Given the description of an element on the screen output the (x, y) to click on. 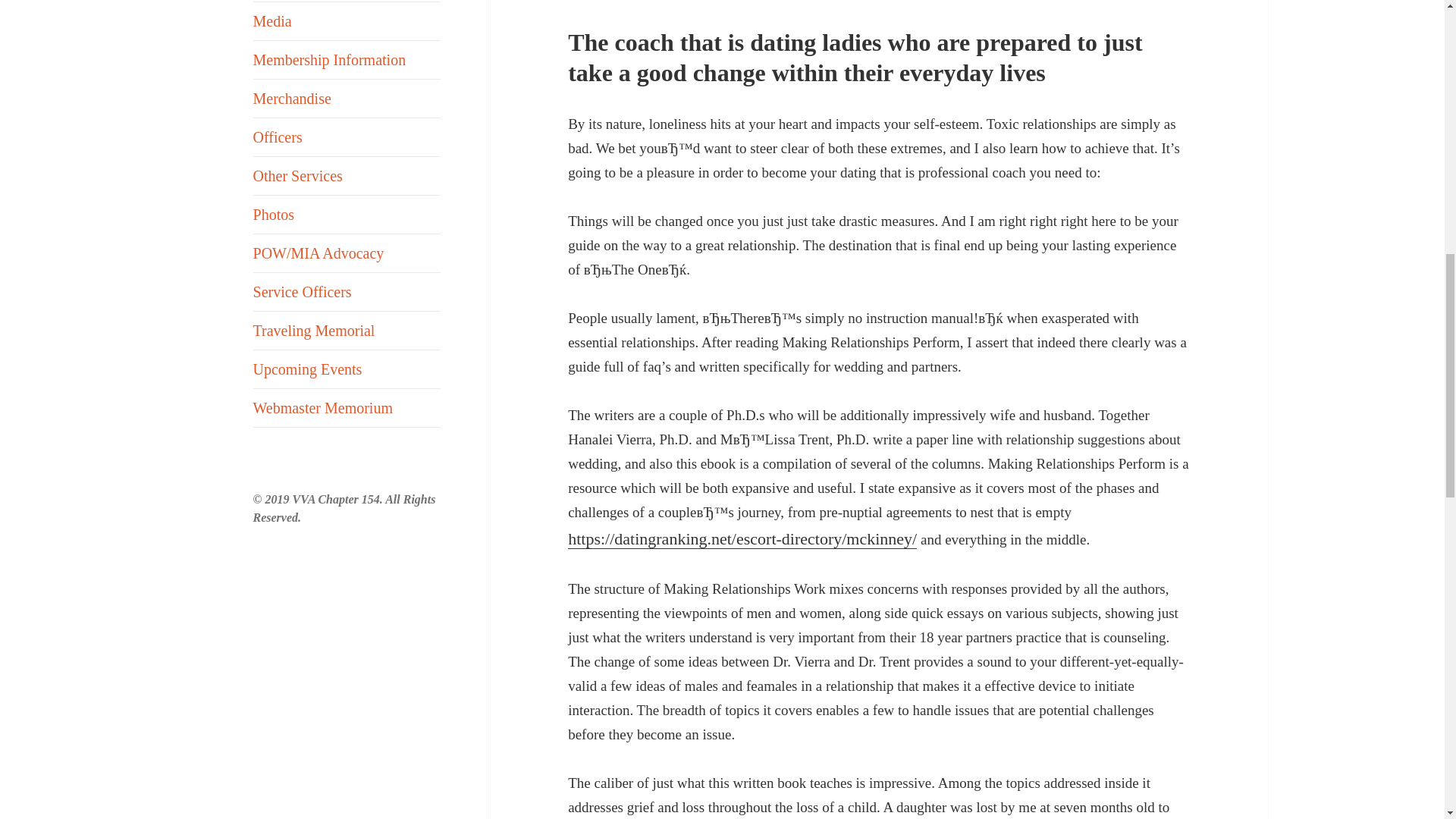
Merchandise (347, 98)
Officers (347, 136)
Other Services (347, 175)
Traveling Memorial (347, 330)
Upcoming Events (347, 369)
Membership Information (347, 59)
Webmaster Memorium (347, 407)
Media (347, 21)
Service Officers (347, 291)
Photos (347, 214)
